Given the description of an element on the screen output the (x, y) to click on. 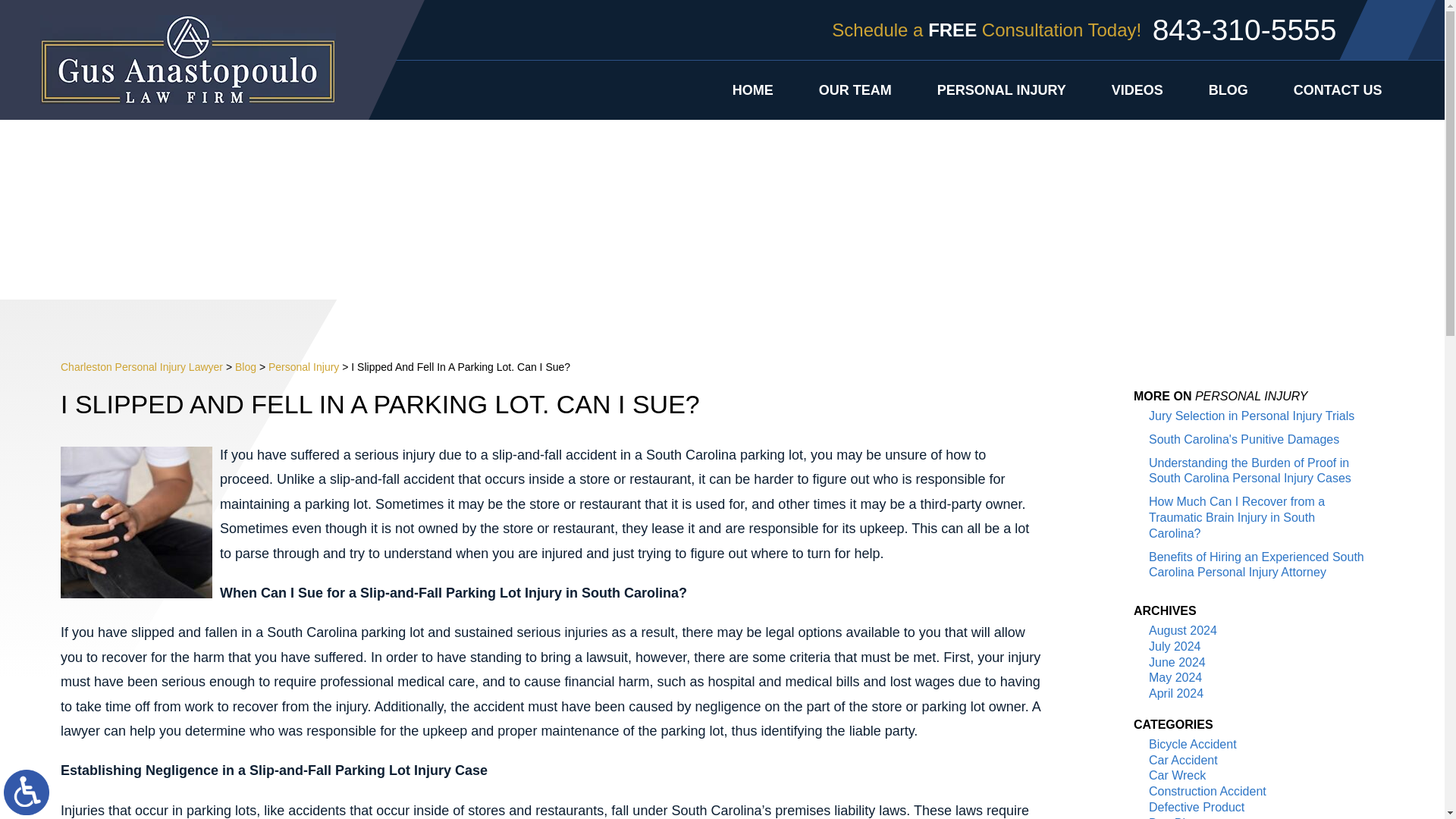
Switch to ADA Accessible Theme (26, 791)
SlipFall9 (136, 522)
PERSONAL INJURY (1001, 89)
HOME (753, 89)
OUR TEAM (855, 89)
843-310-5555 (1279, 30)
